Given the description of an element on the screen output the (x, y) to click on. 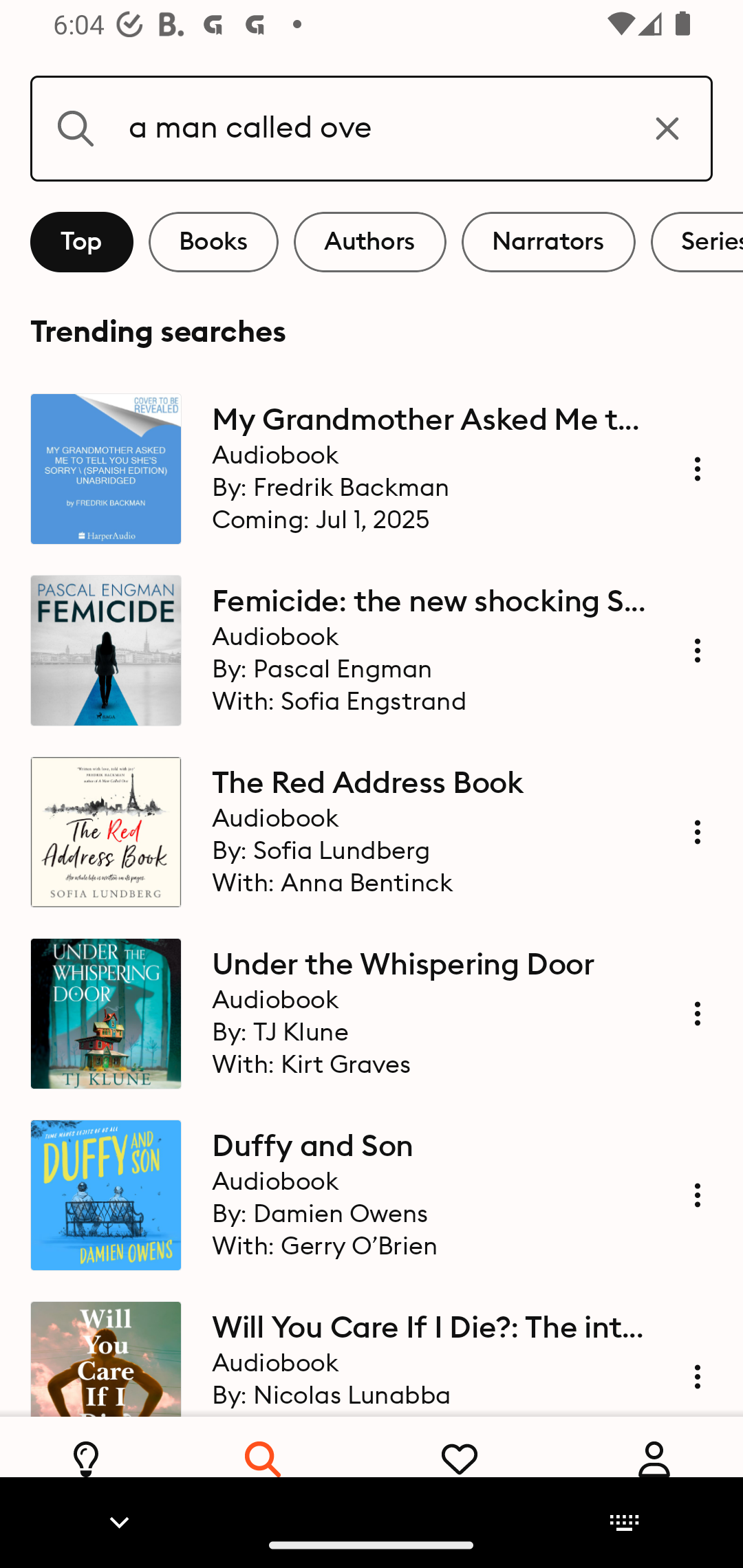
a man called ove (371, 128)
Top (81, 241)
Books (213, 241)
Authors (369, 241)
Narrators (548, 241)
Series (696, 241)
